Given the description of an element on the screen output the (x, y) to click on. 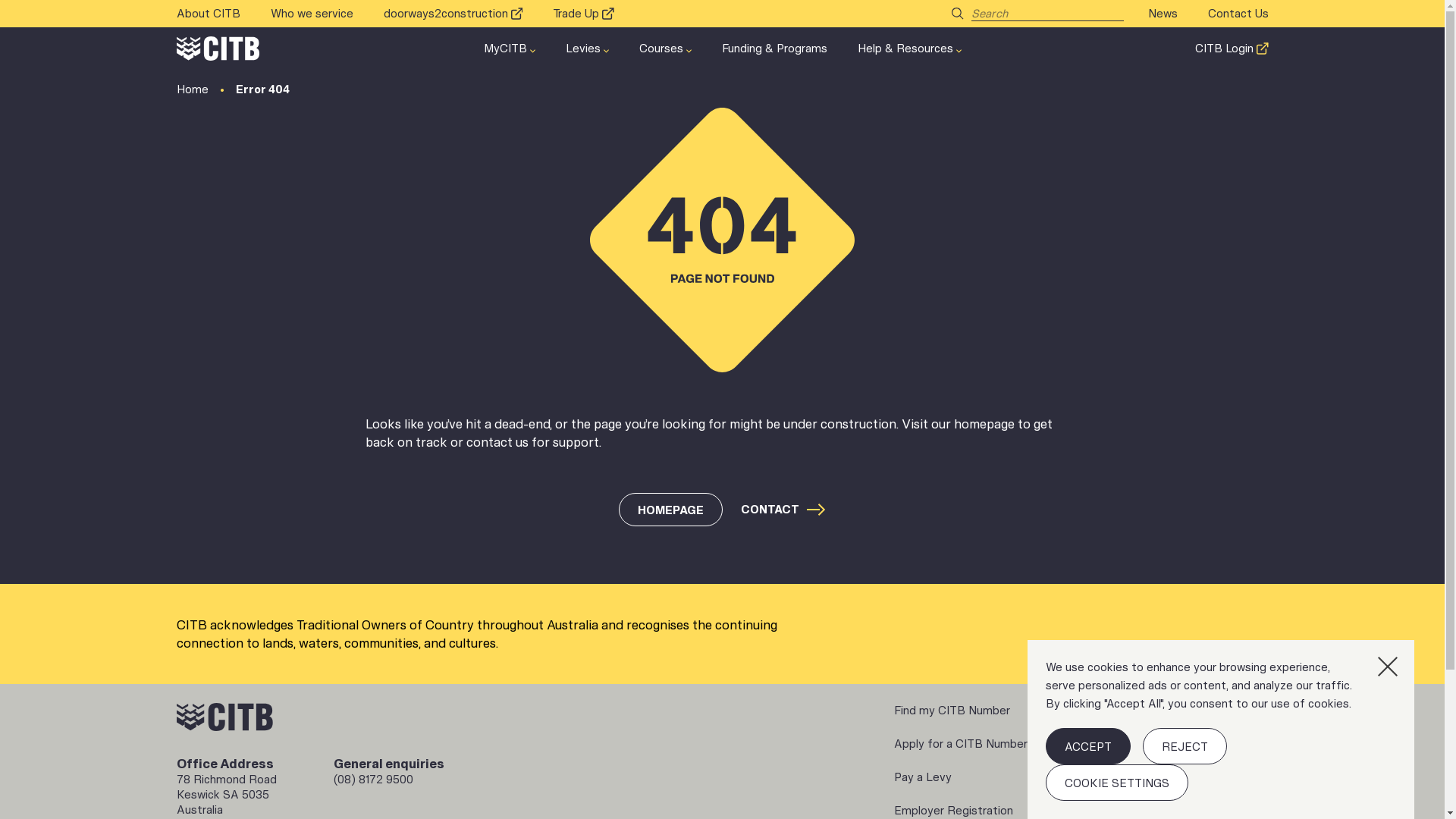
Contact Us Element type: text (1237, 13)
REJECT Element type: text (1184, 746)
doorways2construction Element type: text (445, 13)
CITB login Element type: text (1151, 710)
Levies Element type: text (582, 48)
Funding & Programs Element type: text (774, 48)
Courses Element type: text (660, 48)
COOKIE SETTINGS Element type: text (1116, 782)
Trade Up Element type: text (1147, 776)
doorways2construction Element type: text (1186, 743)
CONTACT Element type: text (782, 509)
Help & Resources Element type: text (904, 48)
HOMEPAGE Element type: text (670, 509)
MyCITB Element type: text (505, 48)
Trade Up Element type: text (575, 13)
(08) 8172 9500 Element type: text (373, 779)
Apply for a CITB Number Element type: text (960, 743)
About CITB Element type: text (207, 13)
News Element type: text (1162, 13)
Employer Registration Element type: text (953, 810)
Find my CITB Number Element type: text (952, 710)
Who we service Element type: text (310, 13)
Pay a Levy Element type: text (922, 776)
ACCEPT Element type: text (1087, 746)
Home Element type: text (191, 89)
CITB Login Element type: text (1224, 48)
